Given the description of an element on the screen output the (x, y) to click on. 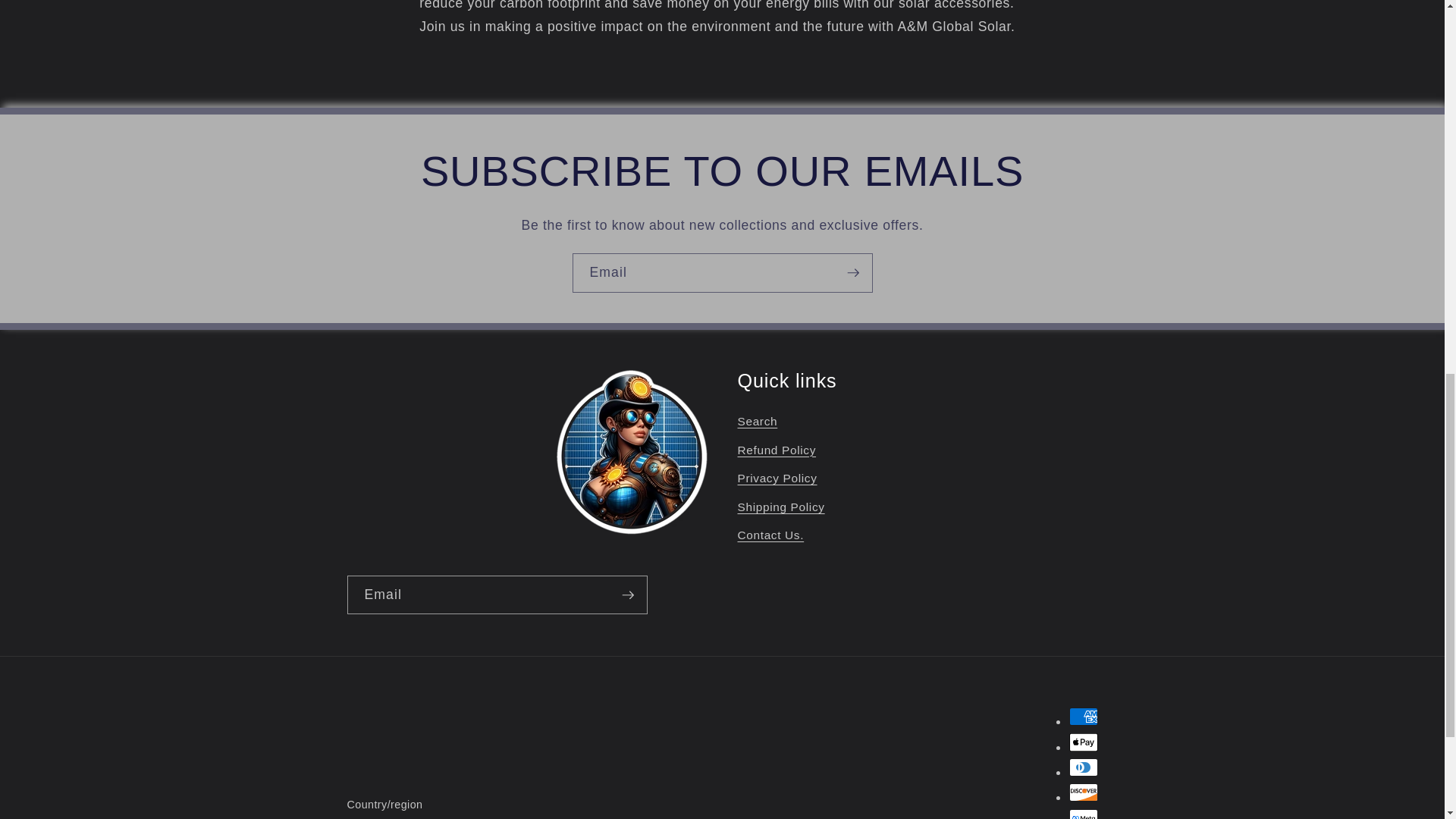
Apple Pay (1082, 742)
Meta Pay (1082, 814)
American Express (1082, 716)
Discover (1082, 791)
Diners Club (1082, 767)
